Given the description of an element on the screen output the (x, y) to click on. 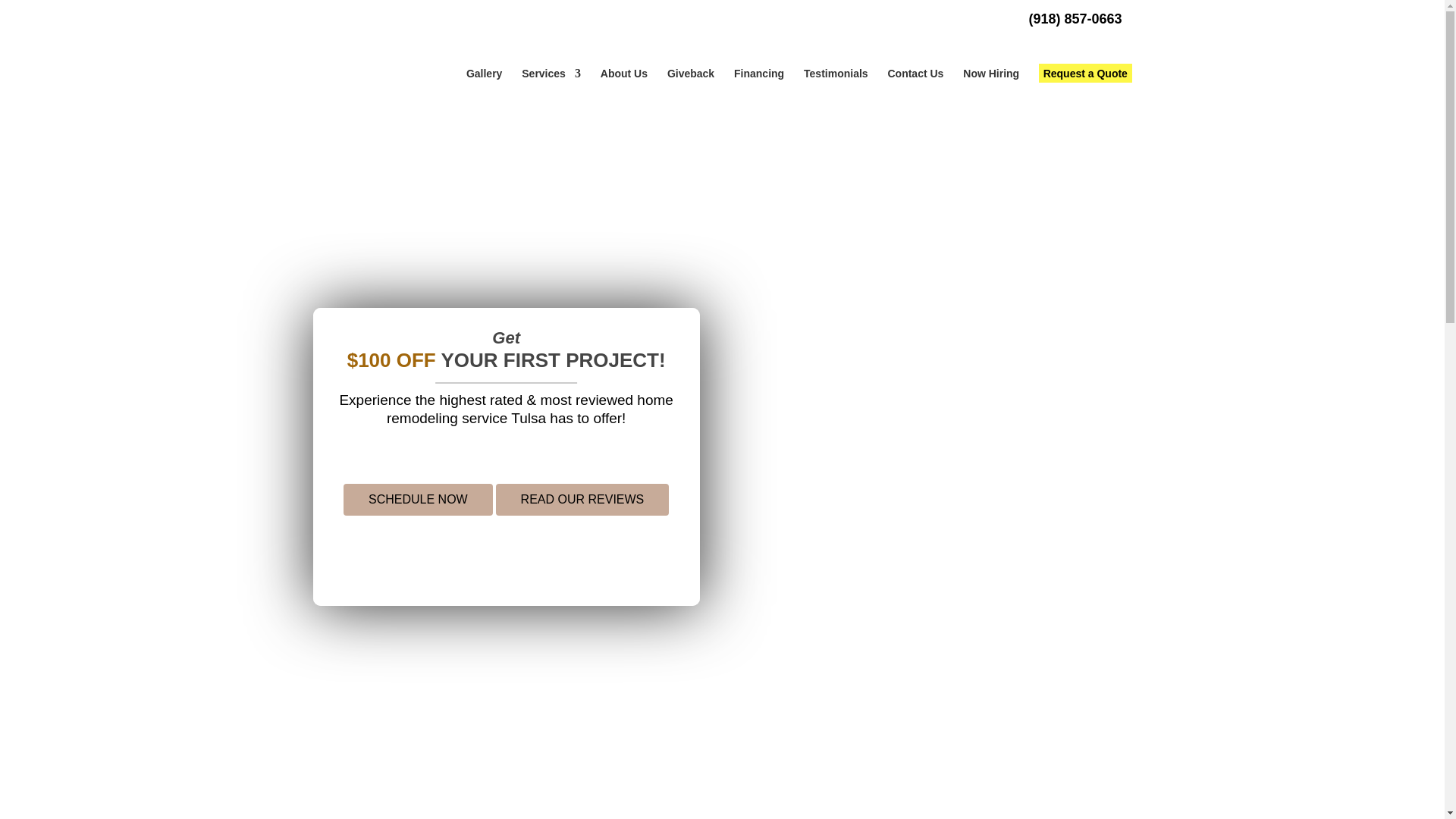
Services (550, 72)
Request a Quote (1085, 72)
Testimonials (835, 72)
READ OUR REVIEWS (582, 499)
Now Hiring (990, 72)
Financing (758, 72)
Gallery (483, 72)
About Us (623, 72)
SCHEDULE NOW (418, 499)
Banner Version 4 Glue And Nails Removebg Preview (879, 225)
Giveback (690, 72)
Contact Us (914, 72)
